Given the description of an element on the screen output the (x, y) to click on. 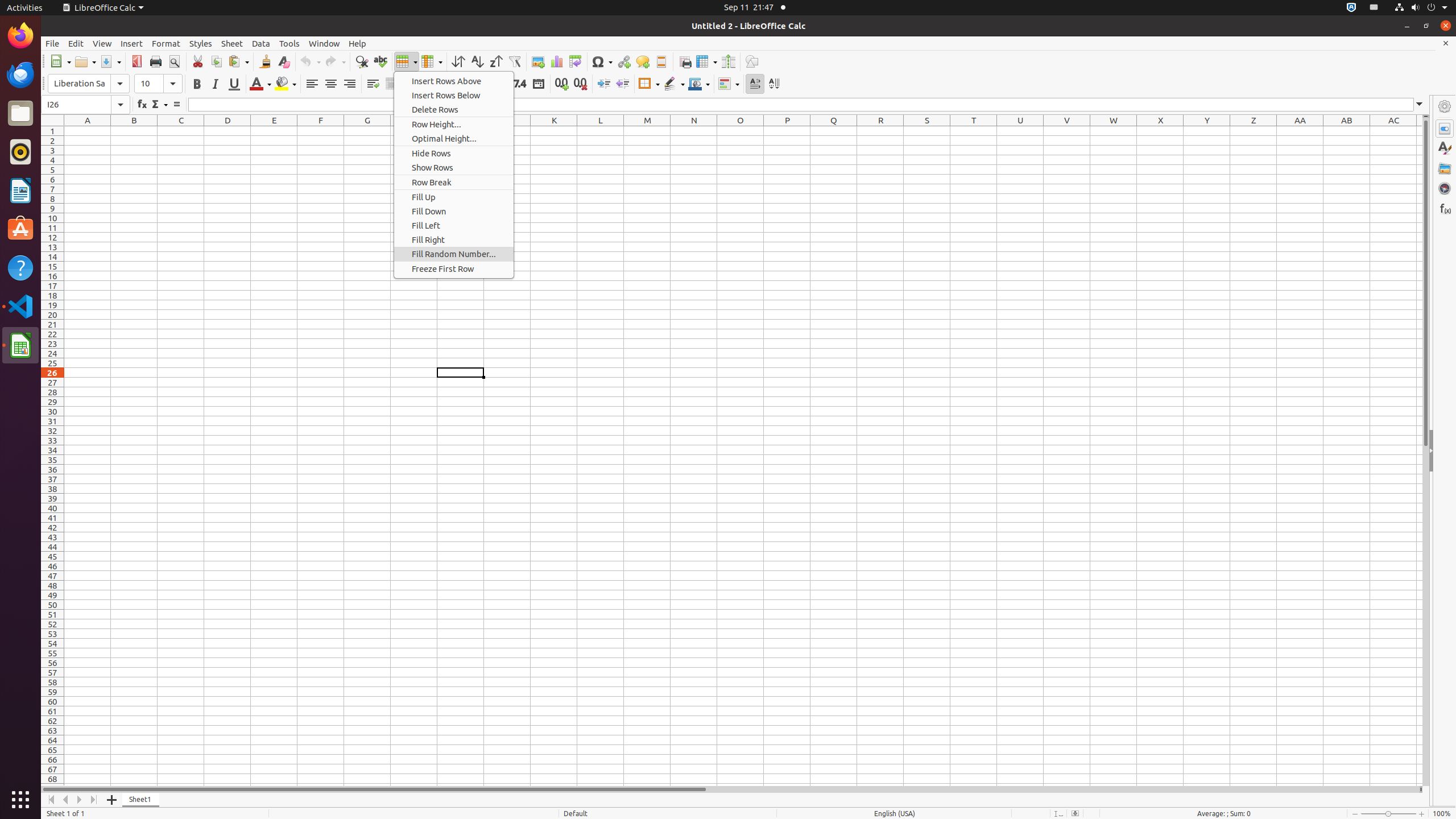
LibreOffice Calc Element type: menu (102, 7)
luyi1 Element type: label (75, 50)
